Given the description of an element on the screen output the (x, y) to click on. 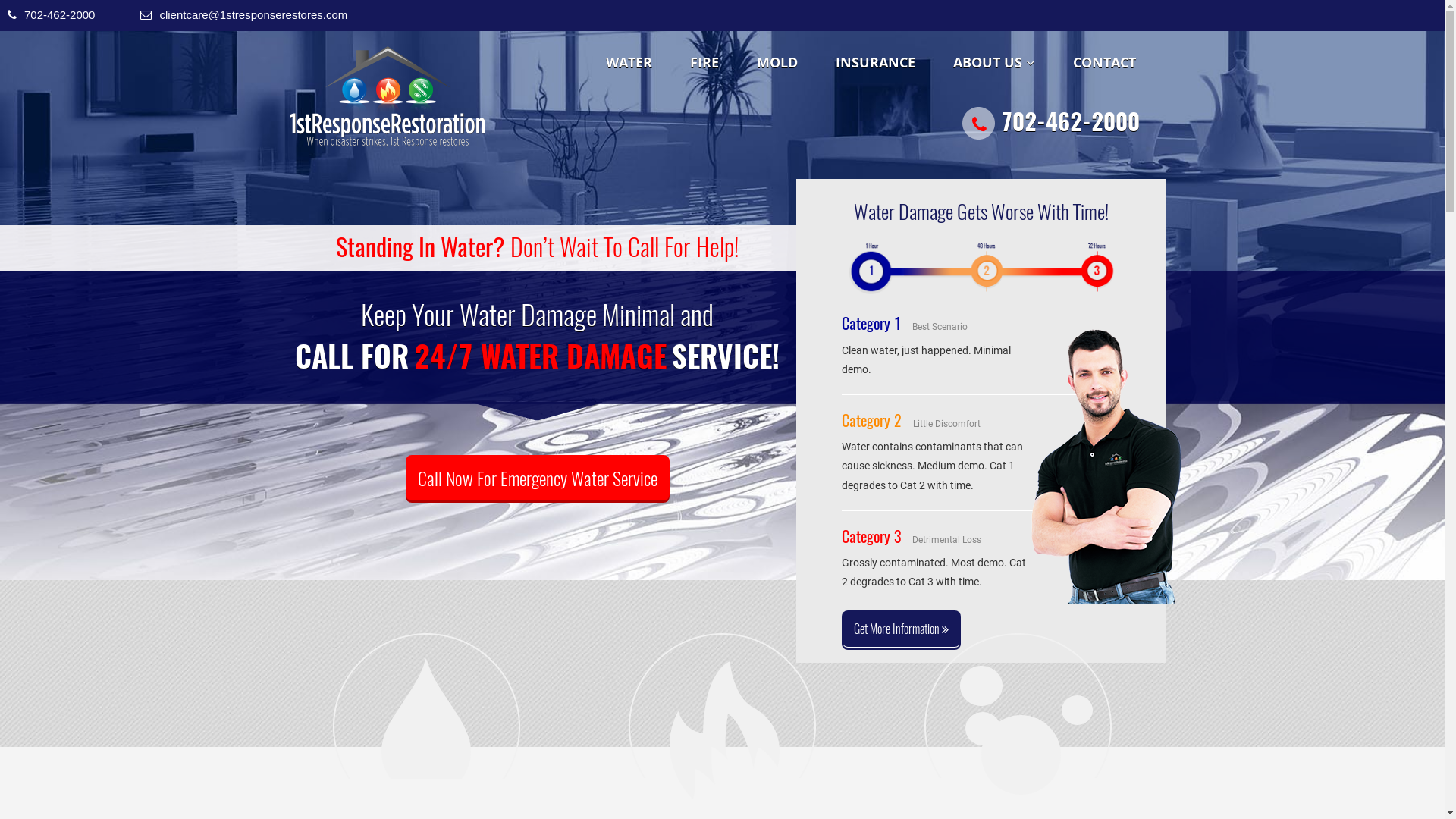
Call Now For Emergency Water Service Element type: text (537, 477)
702-462-2000 Element type: text (59, 14)
CONTACT Element type: text (1104, 62)
FIRE Element type: text (703, 62)
Get More Information Element type: text (900, 628)
INSURANCE Element type: text (874, 62)
ABOUT US Element type: text (994, 62)
clientcare@1stresponserestores.com Element type: text (253, 14)
MOLD Element type: text (776, 62)
WATER Element type: text (628, 62)
702-462-2000 Element type: text (1050, 123)
